Given the description of an element on the screen output the (x, y) to click on. 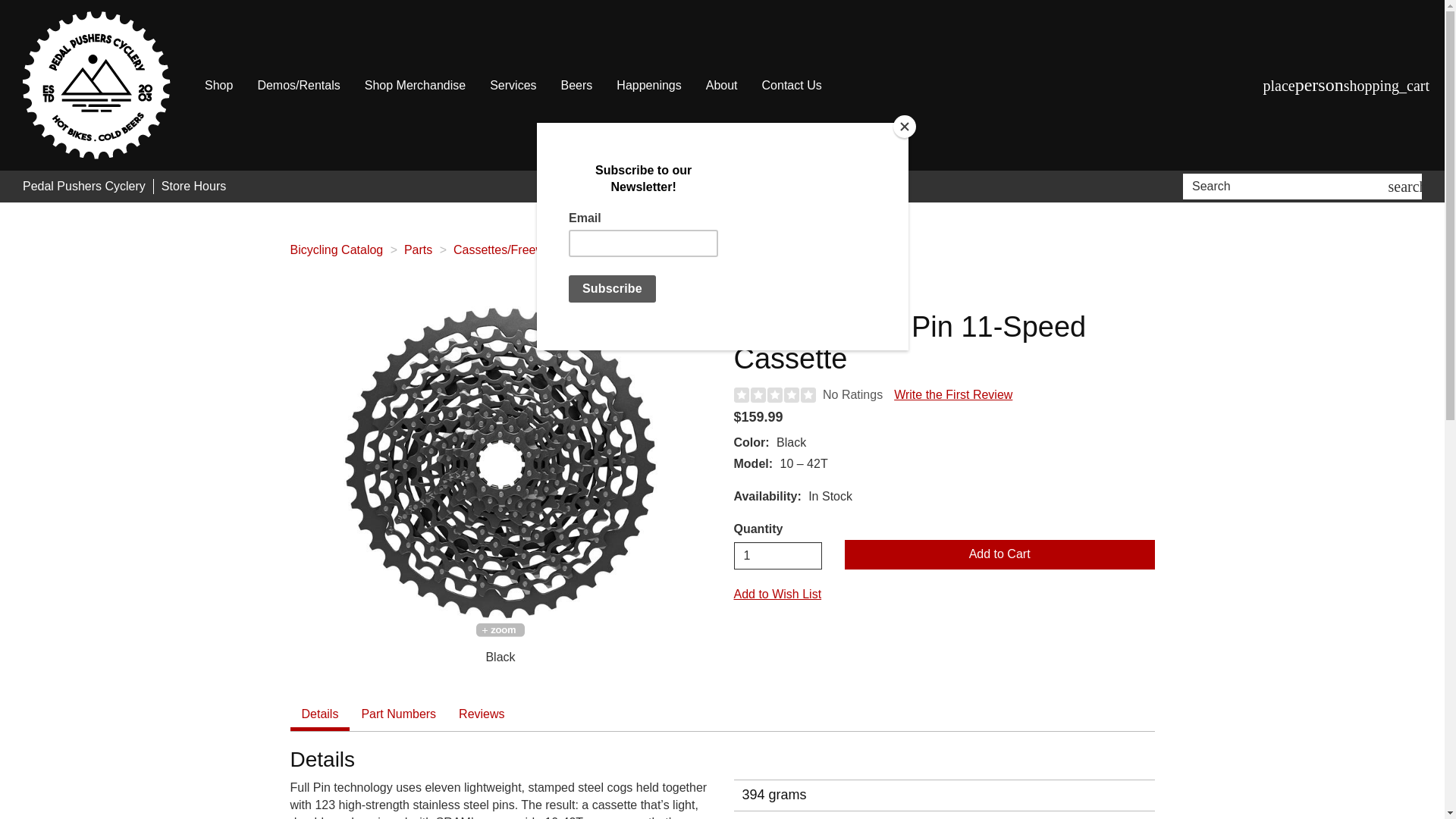
Store Hours (193, 186)
Pedal Pushers Cyclery Home Page (96, 84)
SRAM XG-1150 Full Pin 11-Speed Cassette Black (500, 462)
Pedal Pushers Cyclery Home Page (84, 186)
1 (777, 555)
Search (1287, 186)
